Given the description of an element on the screen output the (x, y) to click on. 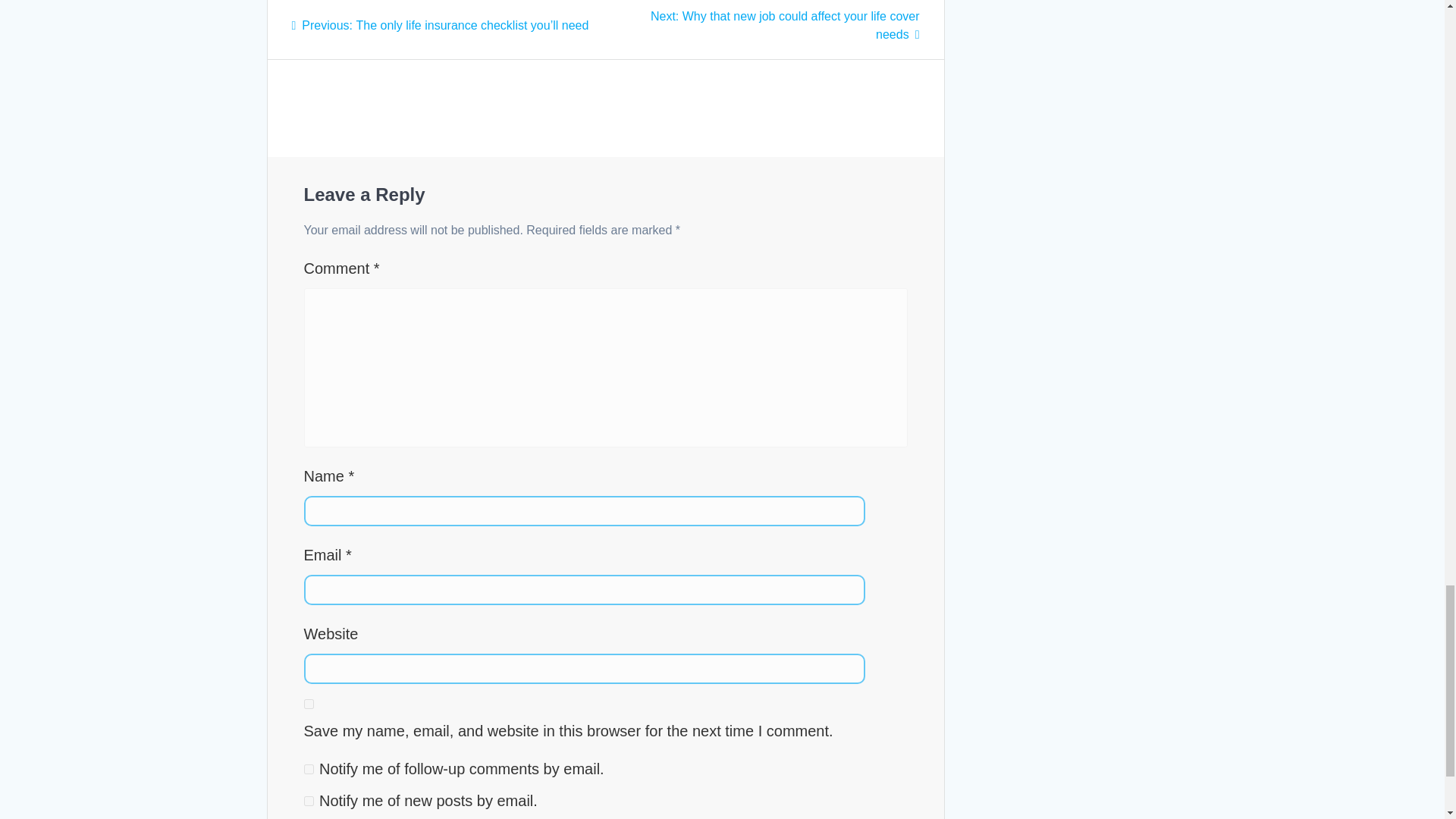
subscribe (307, 800)
yes (307, 704)
subscribe (307, 768)
